Given the description of an element on the screen output the (x, y) to click on. 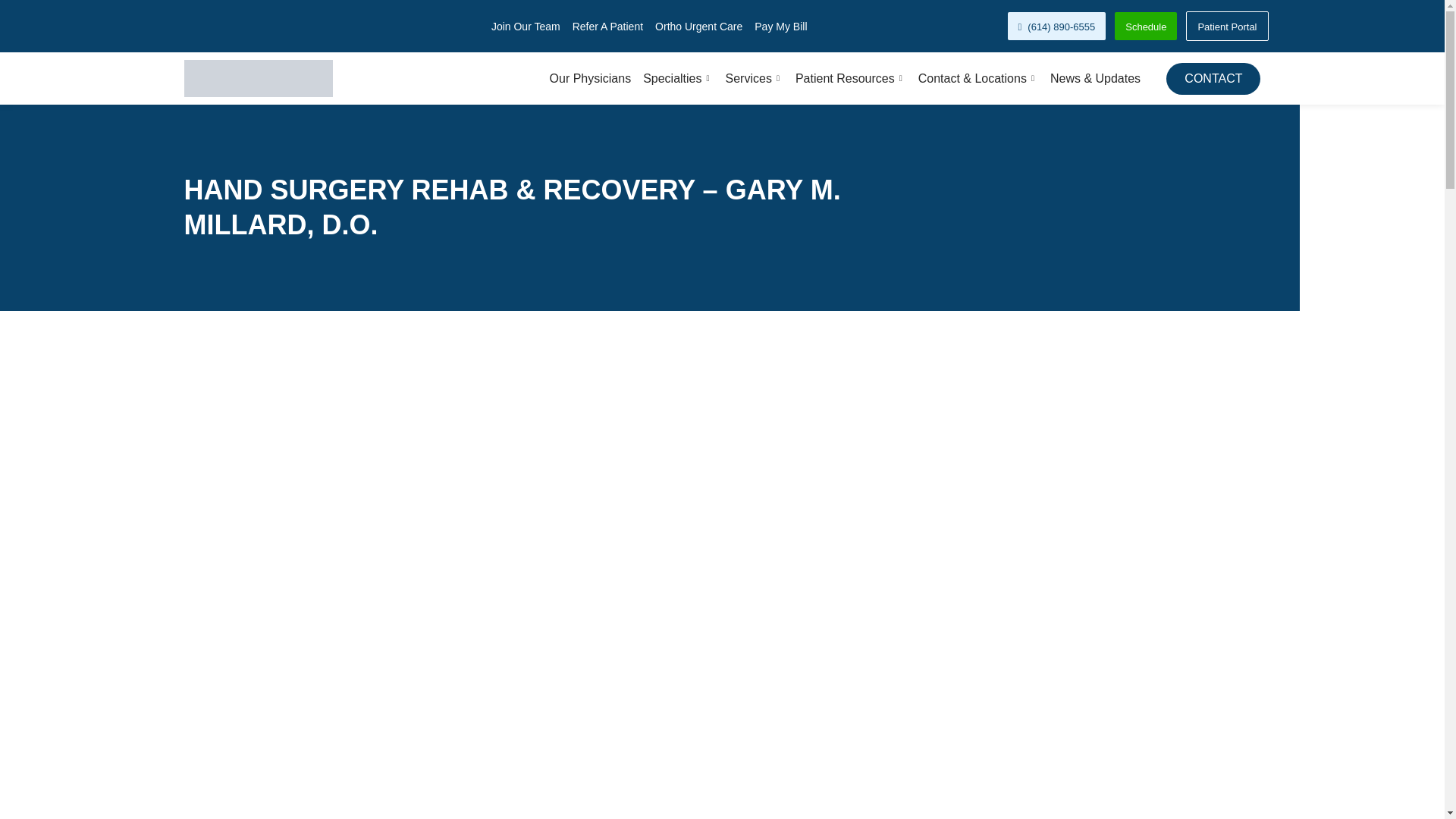
Services (748, 78)
Pay My Bill (780, 26)
Join Our Team (526, 26)
Our Physicians (584, 78)
Schedule (1145, 26)
Refer A Patient (607, 26)
Patient Resources (844, 78)
Ortho Urgent Care (698, 26)
Patient Portal (1227, 25)
Specialties (671, 78)
